Given the description of an element on the screen output the (x, y) to click on. 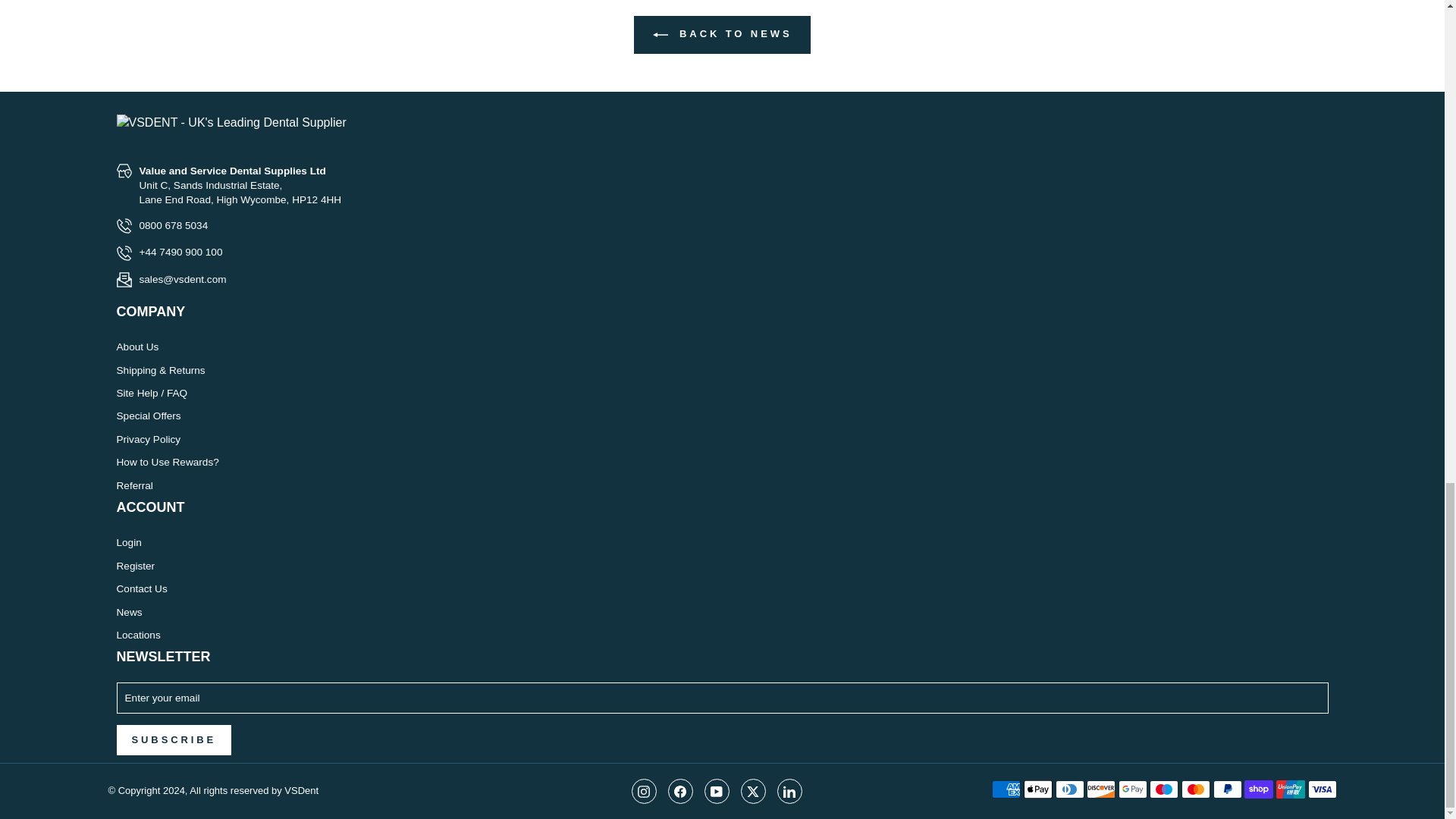
VSDent on Twitter (752, 790)
VSDent on Facebook (679, 790)
Apple Pay (1037, 789)
VSDent on Instagram (643, 790)
American Express (1005, 789)
VSDent on LinkedIn (789, 790)
VSDent on YouTube (716, 790)
